Given the description of an element on the screen output the (x, y) to click on. 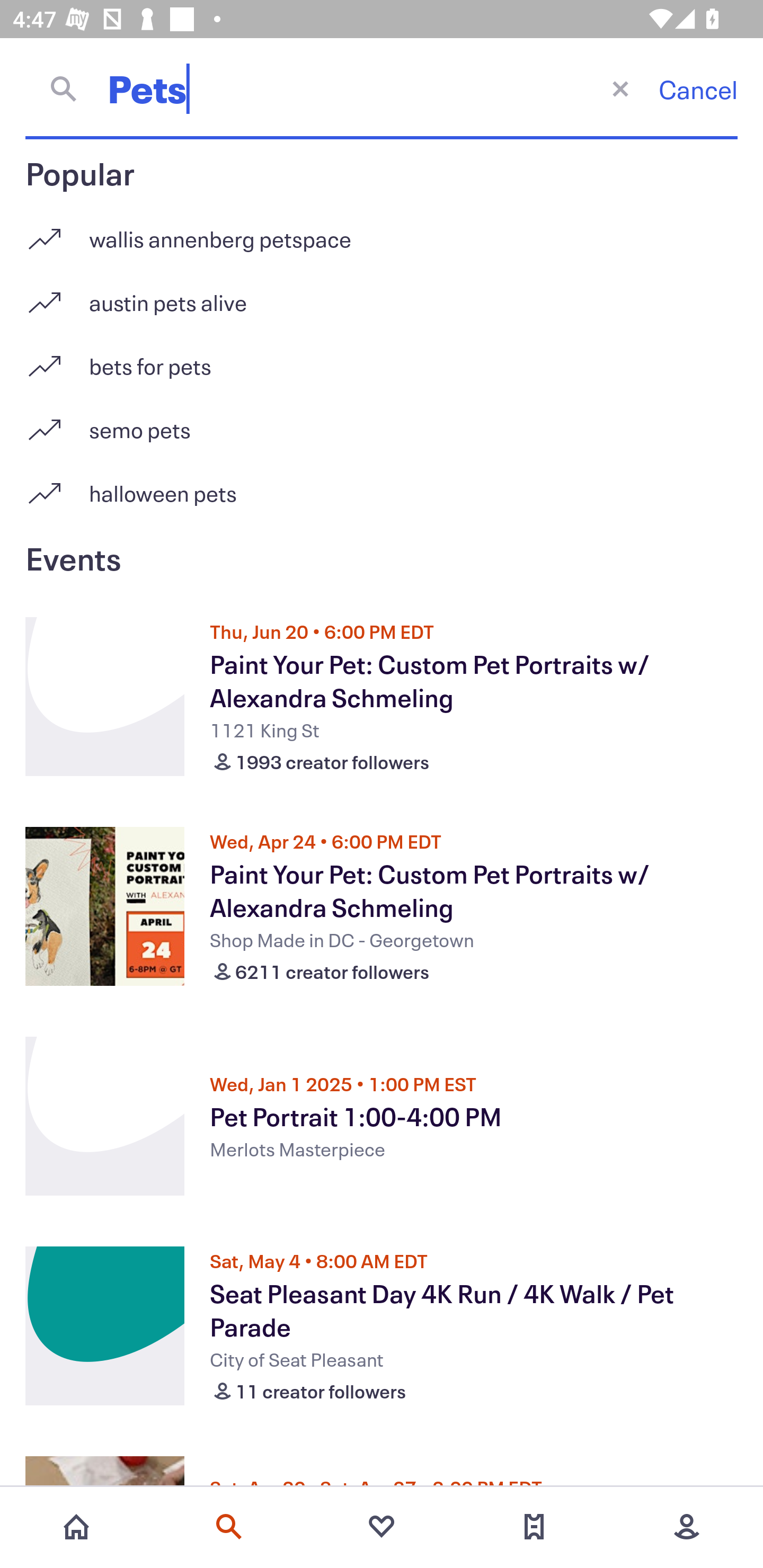
Pets Close current screen Cancel (381, 88)
Close current screen (620, 88)
Cancel (697, 89)
wallis annenberg petspace (381, 231)
austin pets alive (381, 295)
bets for pets (381, 358)
semo pets (381, 422)
halloween pets (381, 492)
Home (76, 1526)
Search events (228, 1526)
Favorites (381, 1526)
Tickets (533, 1526)
More (686, 1526)
